Given the description of an element on the screen output the (x, y) to click on. 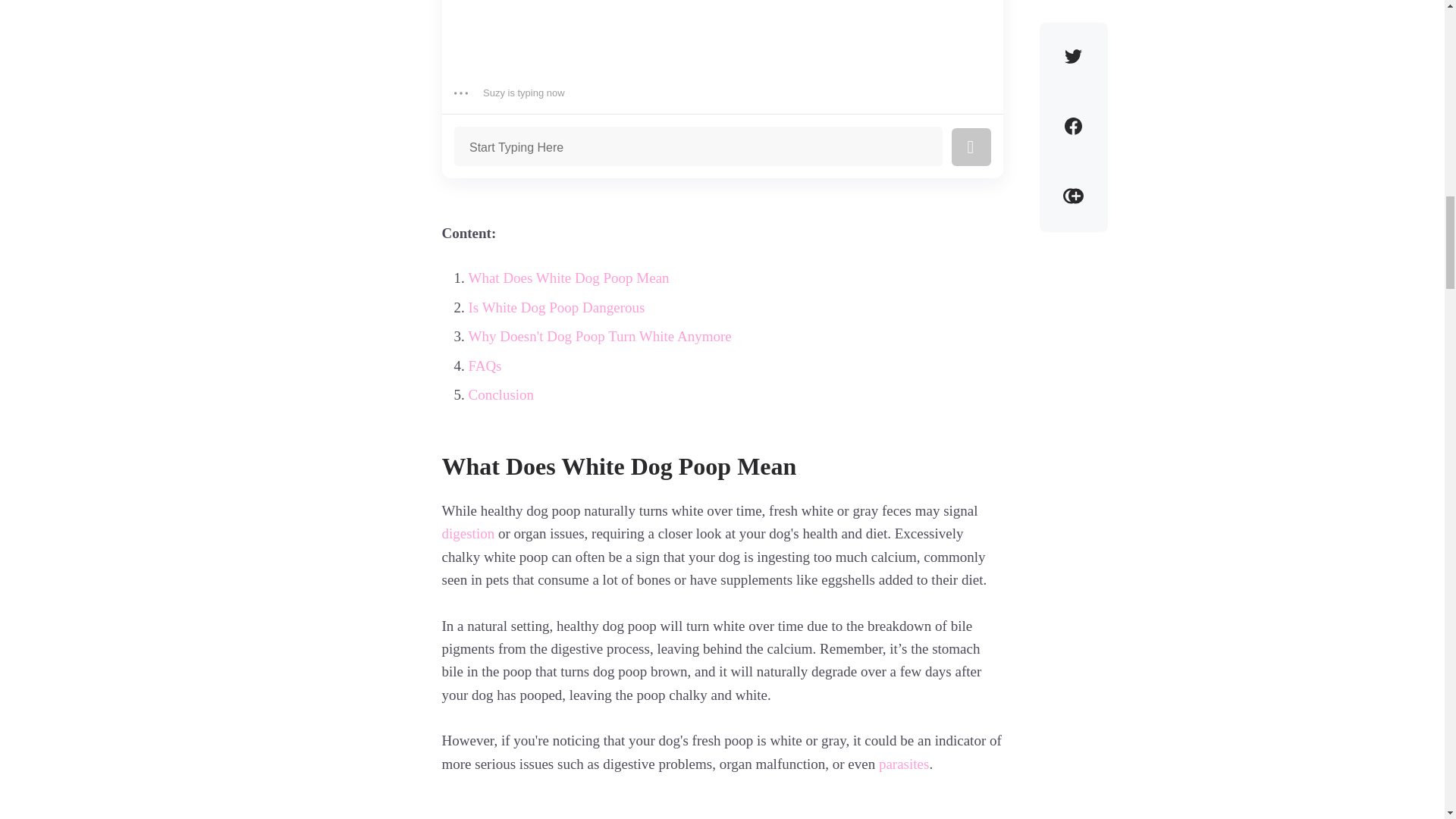
What Does White Dog Poop Mean (568, 278)
FAQs (485, 366)
digestion (468, 533)
Is White Dog Poop Dangerous (556, 307)
Conclusion (501, 395)
Why Doesn't Dog Poop Turn White Anymore (600, 336)
Vet Assistant (722, 89)
parasites (903, 764)
